Given the description of an element on the screen output the (x, y) to click on. 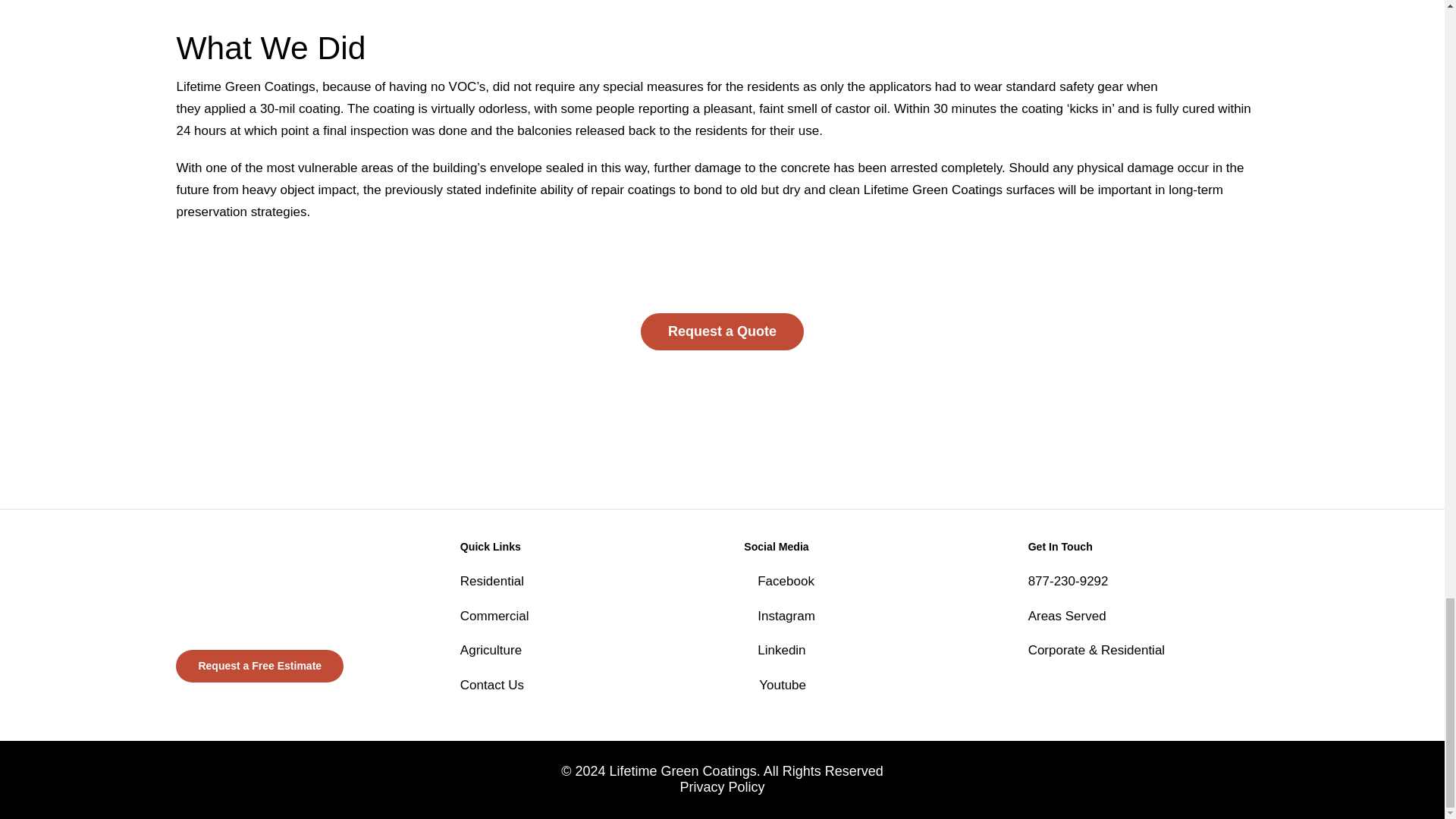
C 98 Apartment Hallways 6 (751, 680)
C 98 Apartment Hallways 3 (750, 577)
C 98 Apartment Hallways 4 (750, 612)
C 98 Apartment Hallways 2 (257, 584)
C 98 Apartment Hallways 5 (750, 646)
